Given the description of an element on the screen output the (x, y) to click on. 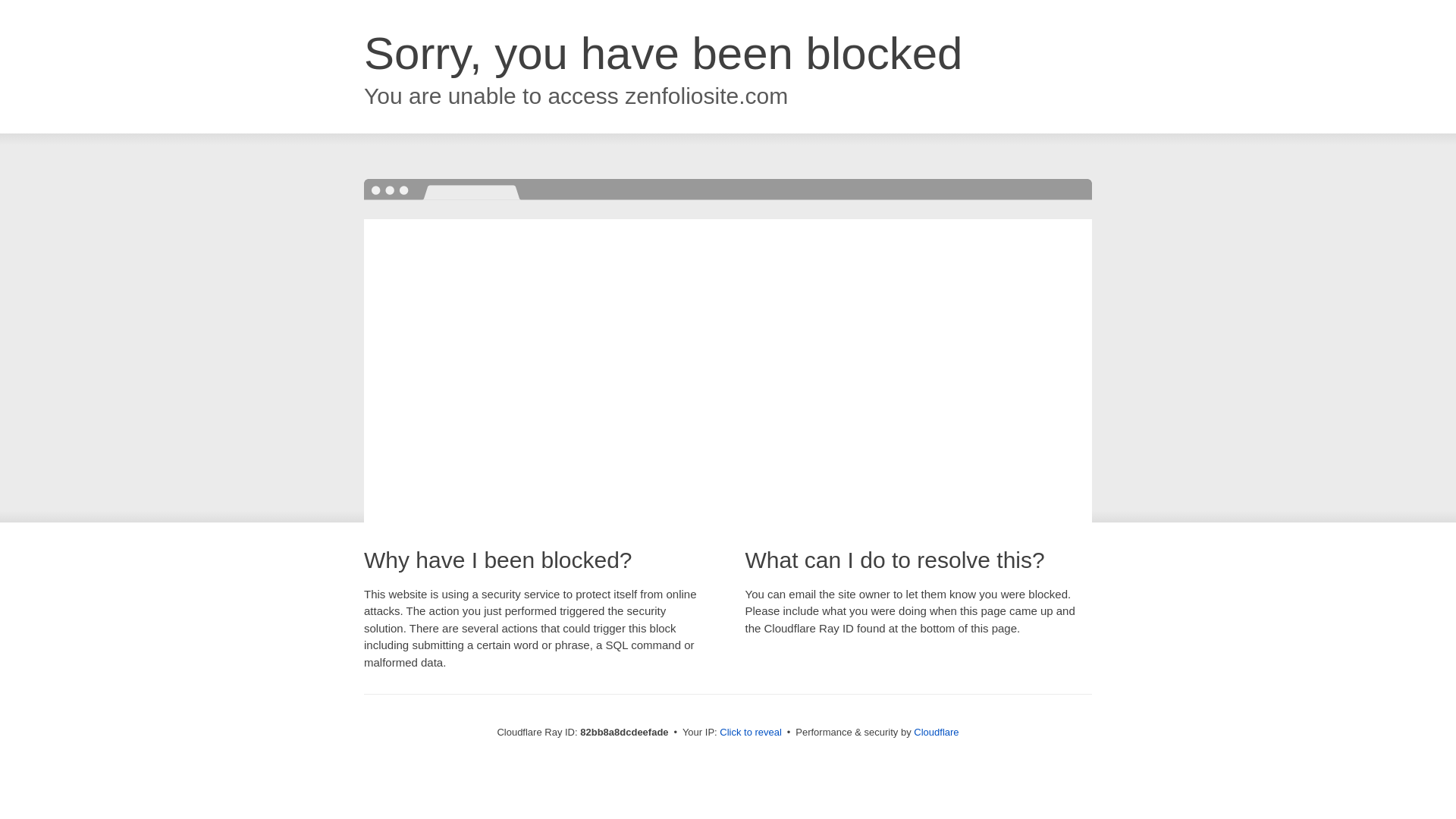
Cloudflare Element type: text (935, 731)
Click to reveal Element type: text (750, 732)
